Given the description of an element on the screen output the (x, y) to click on. 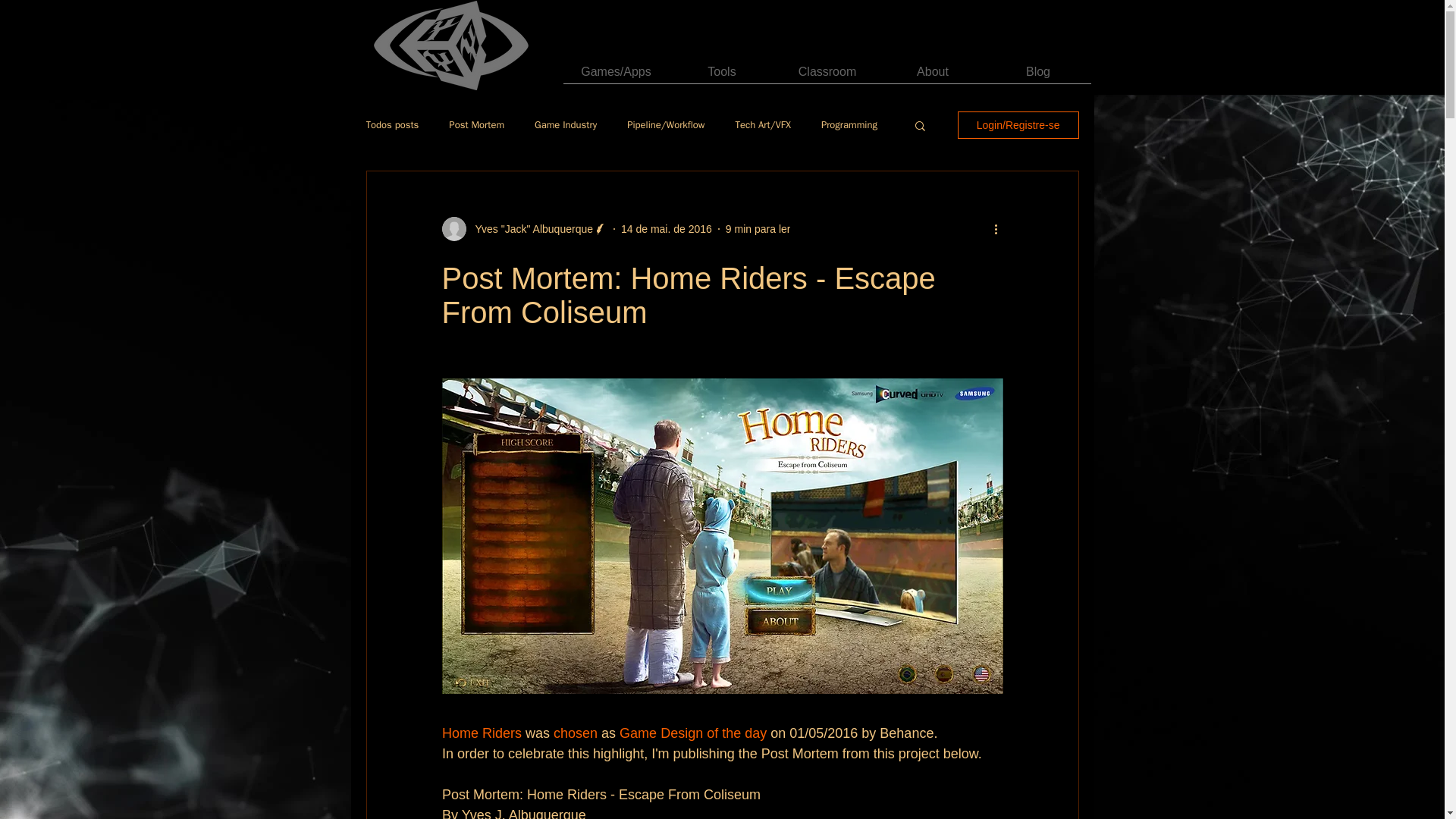
chosen  (577, 733)
Game Design of the day (693, 733)
14 de mai. de 2016 (666, 228)
Yves "Jack" Albuquerque (528, 229)
Todos posts (392, 124)
Classroom (827, 76)
Post Mortem (475, 124)
Game Industry (565, 124)
9 min para ler (757, 228)
About (932, 76)
Programming (849, 124)
Tools (721, 76)
Home Riders (481, 733)
Blog (1037, 76)
